Given the description of an element on the screen output the (x, y) to click on. 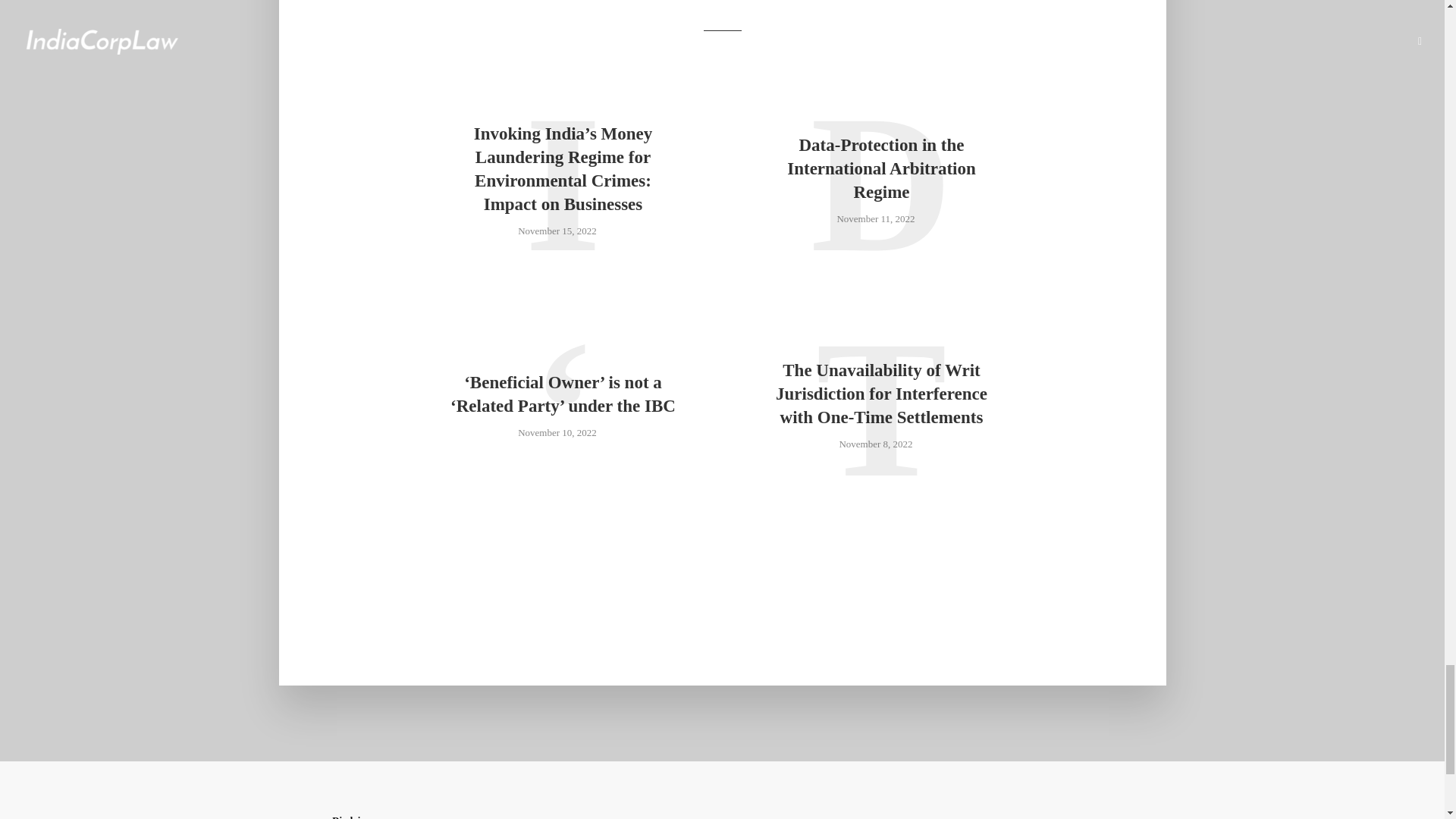
Data-Protection in the International Arbitration Regime (881, 168)
